Given the description of an element on the screen output the (x, y) to click on. 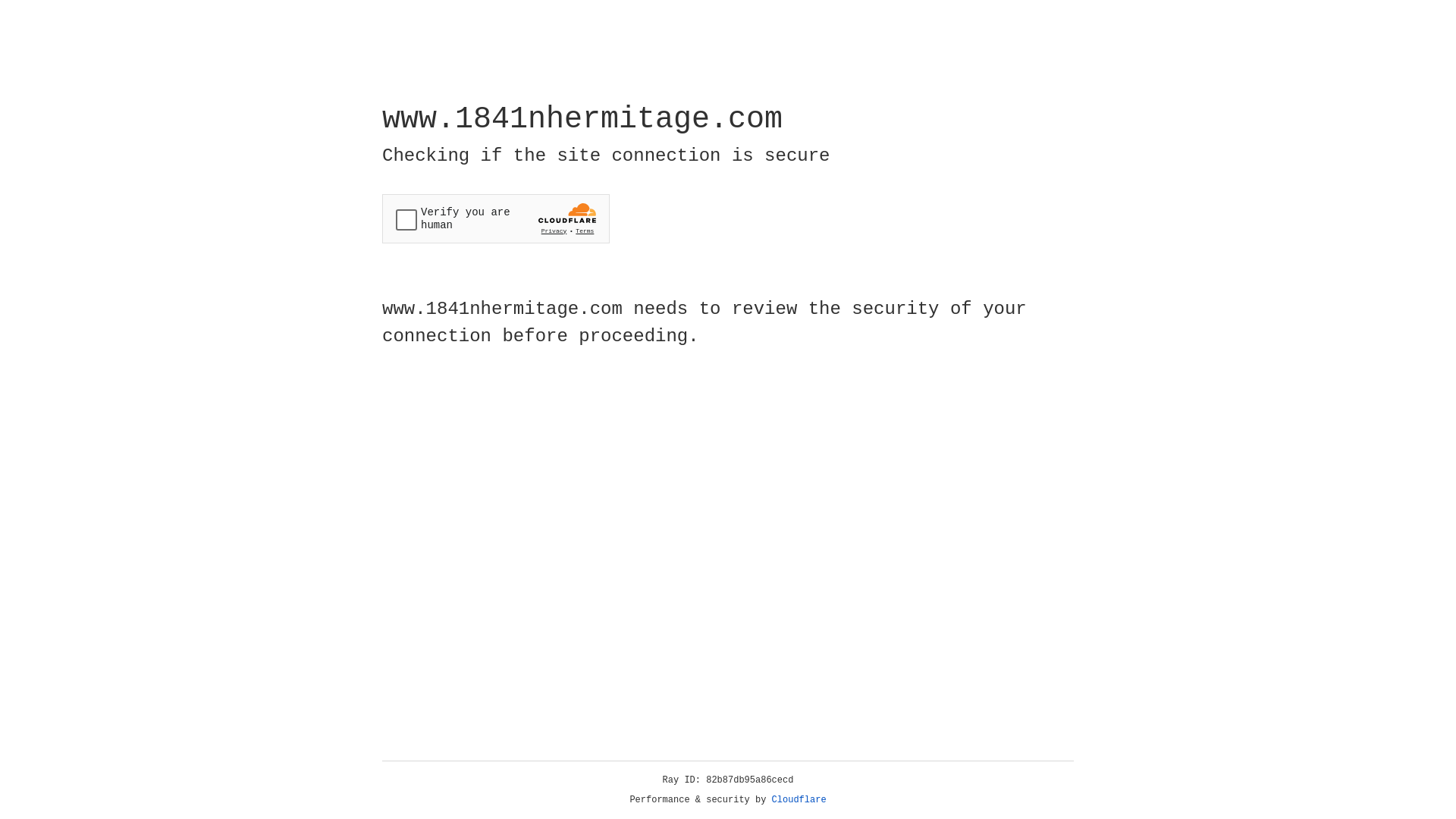
Widget containing a Cloudflare security challenge Element type: hover (495, 218)
Cloudflare Element type: text (798, 799)
